Given the description of an element on the screen output the (x, y) to click on. 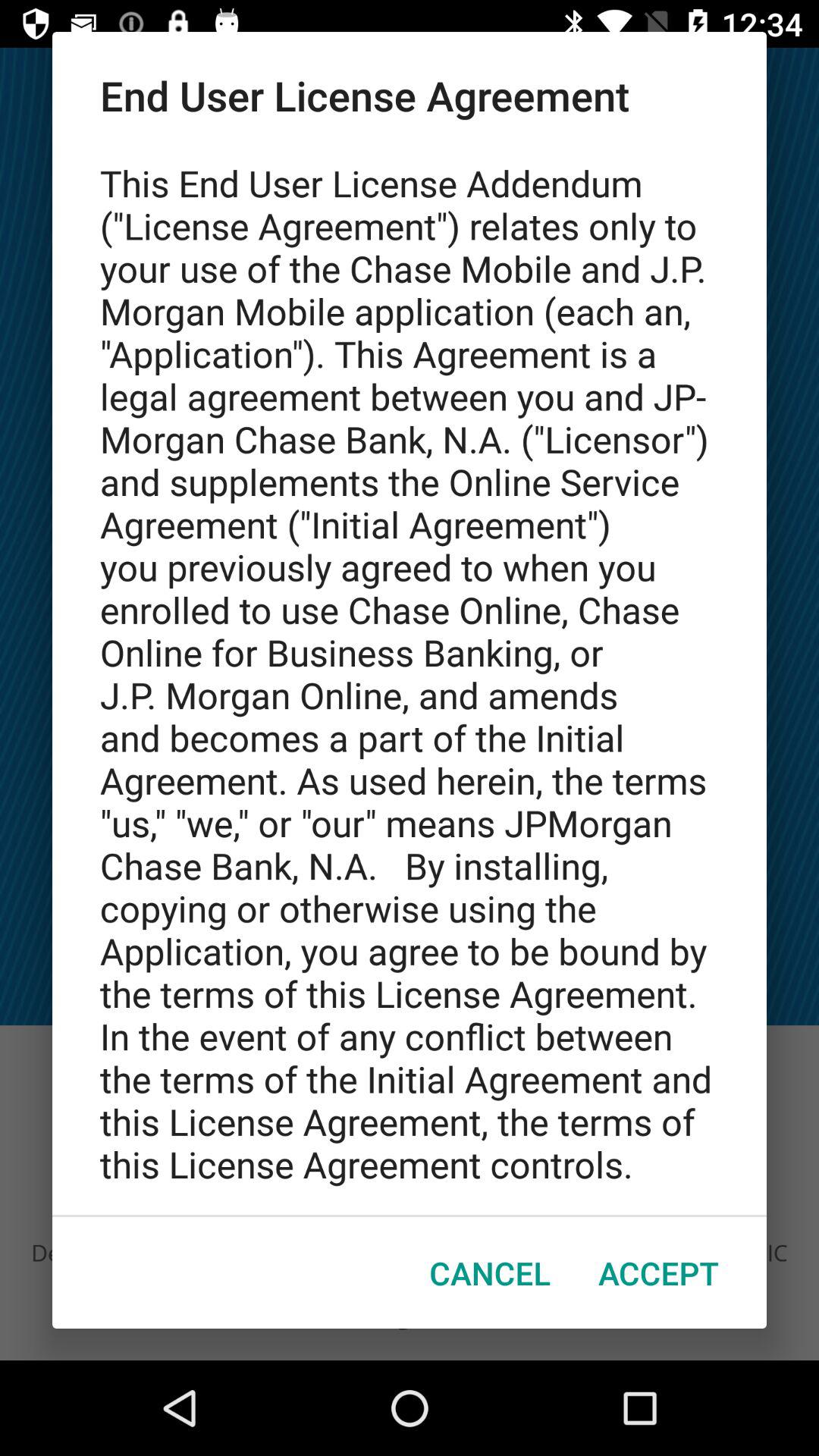
scroll until cancel icon (489, 1272)
